Given the description of an element on the screen output the (x, y) to click on. 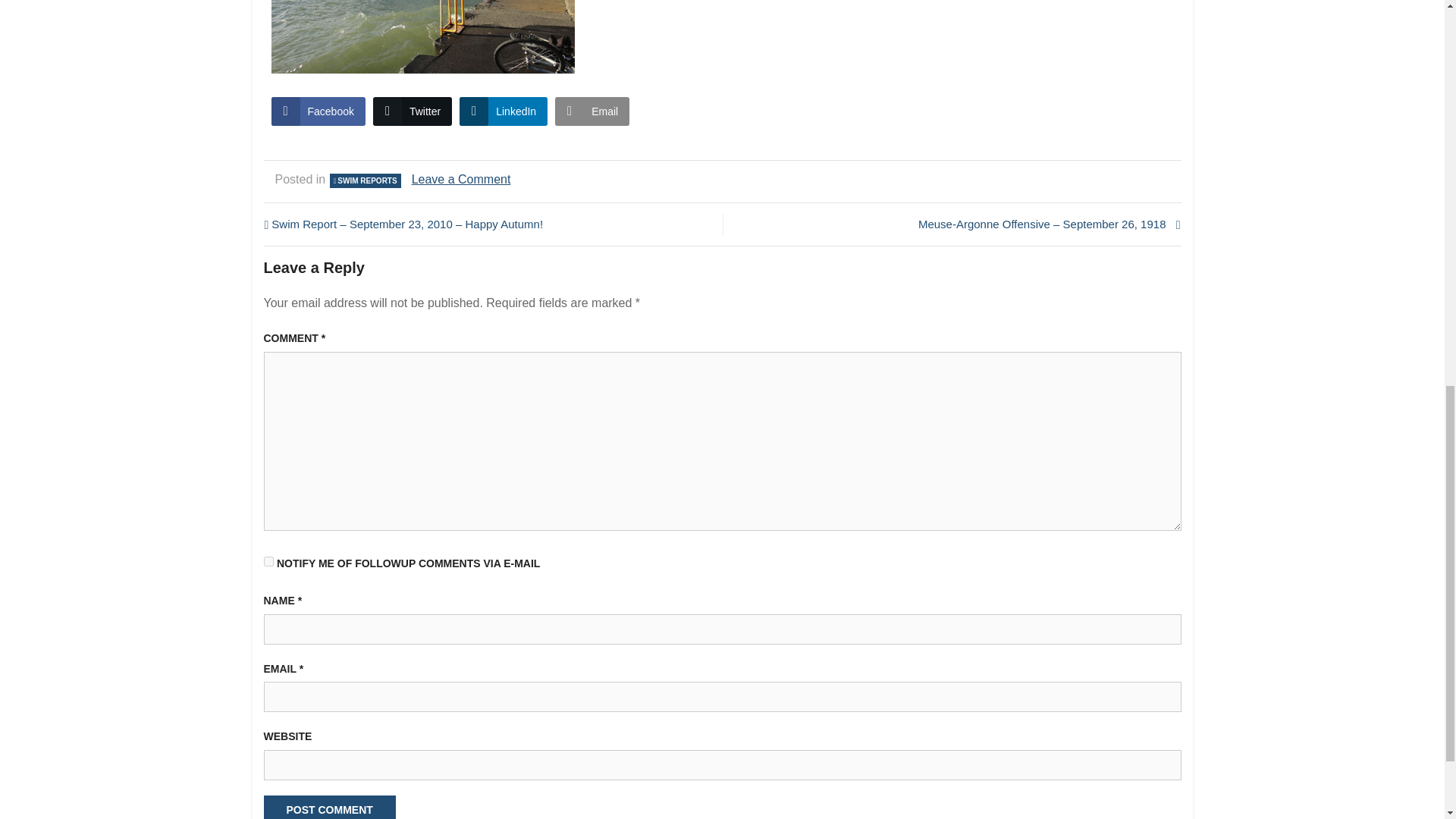
Post Comment (329, 807)
Post Comment (329, 807)
Facebook (317, 111)
LinkedIn (503, 111)
Email (591, 111)
Twitter (411, 111)
SWIM REPORTS (365, 180)
